Given the description of an element on the screen output the (x, y) to click on. 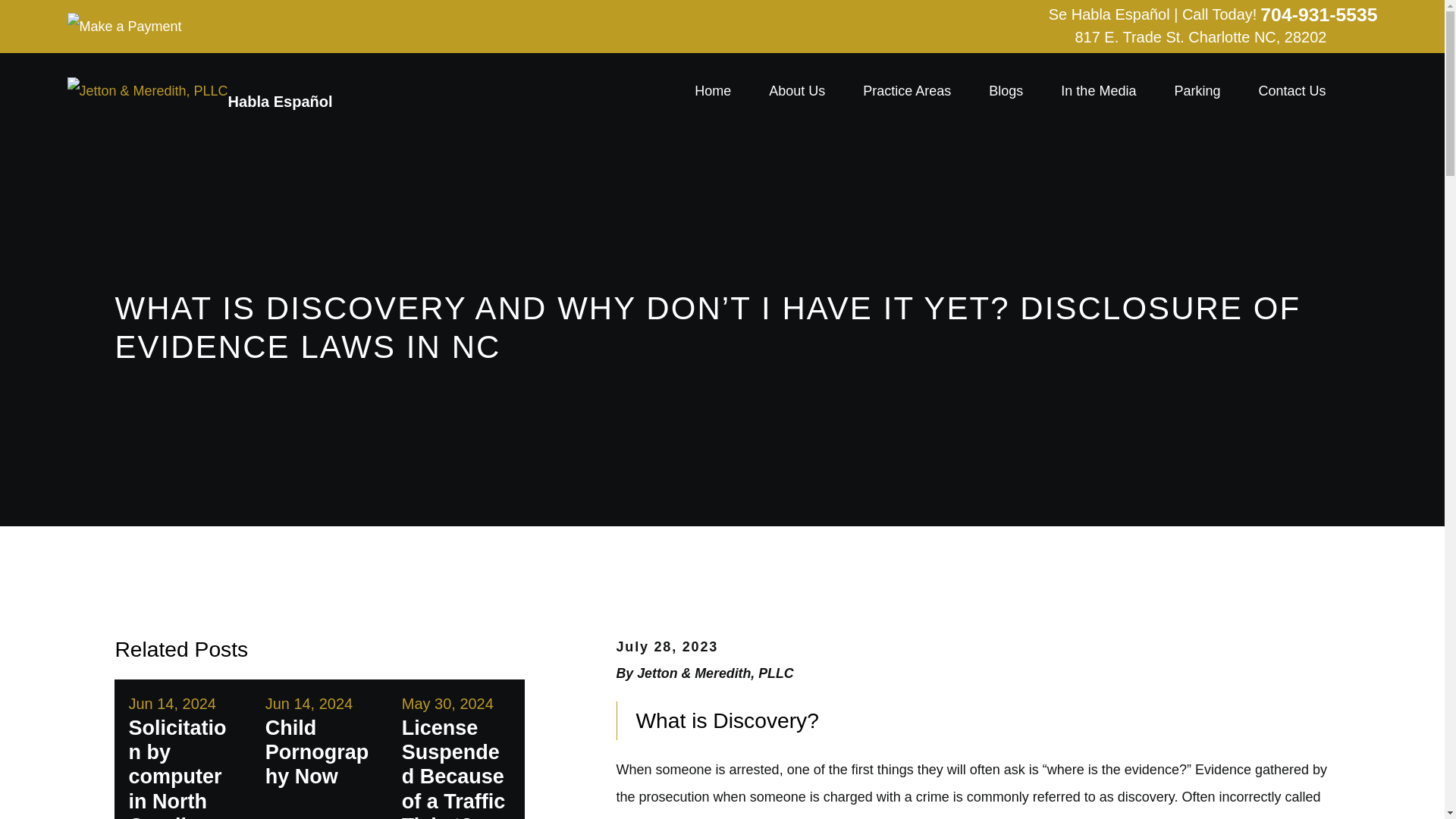
Home (146, 90)
About Us (796, 91)
Blogs (1005, 91)
In the Media (1098, 91)
704-931-5535 (1318, 15)
Parking (1196, 91)
Practice Areas (906, 91)
Home (712, 91)
Contact Us (1290, 91)
